Given the description of an element on the screen output the (x, y) to click on. 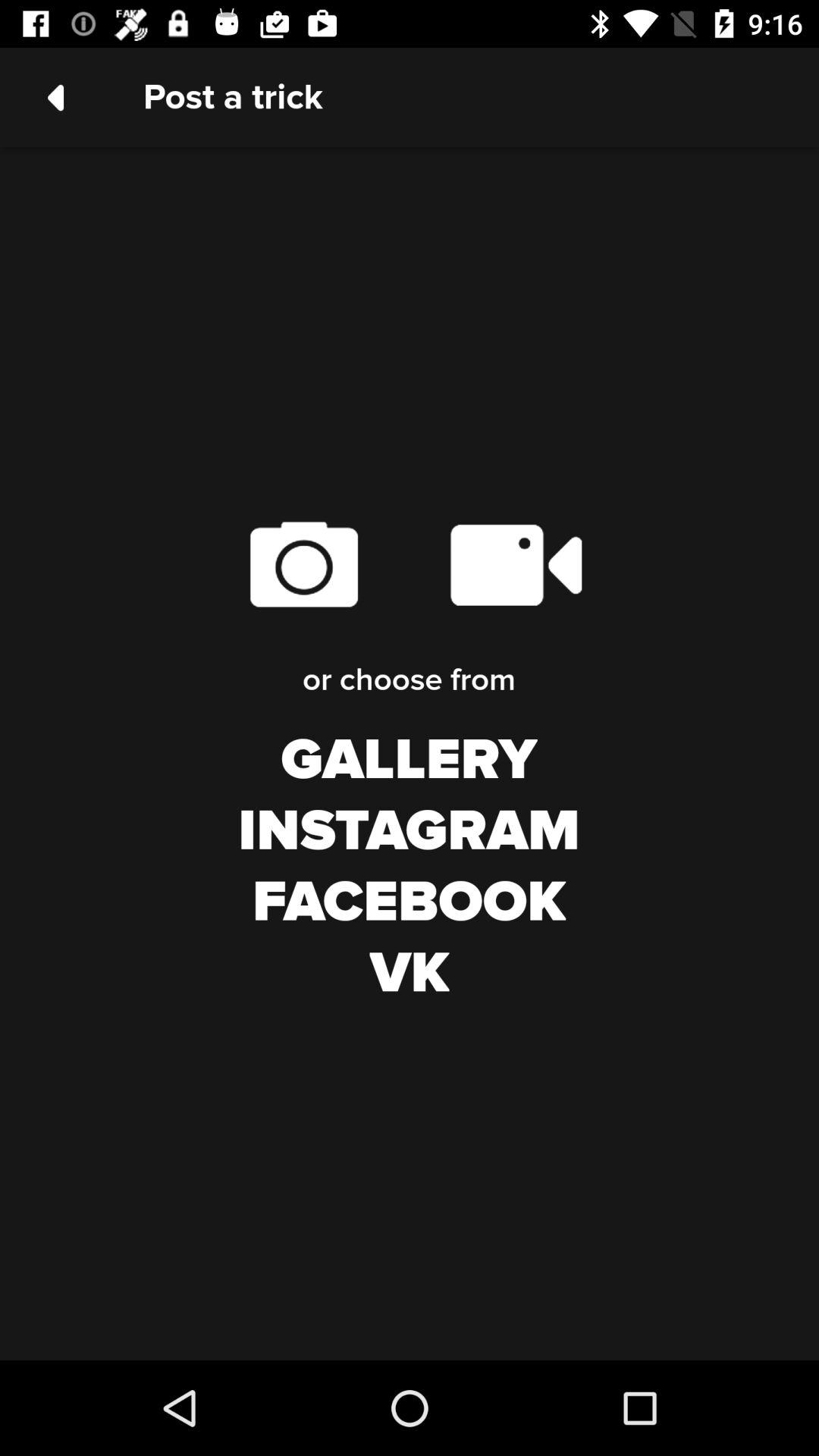
launch gallery icon (408, 760)
